Given the description of an element on the screen output the (x, y) to click on. 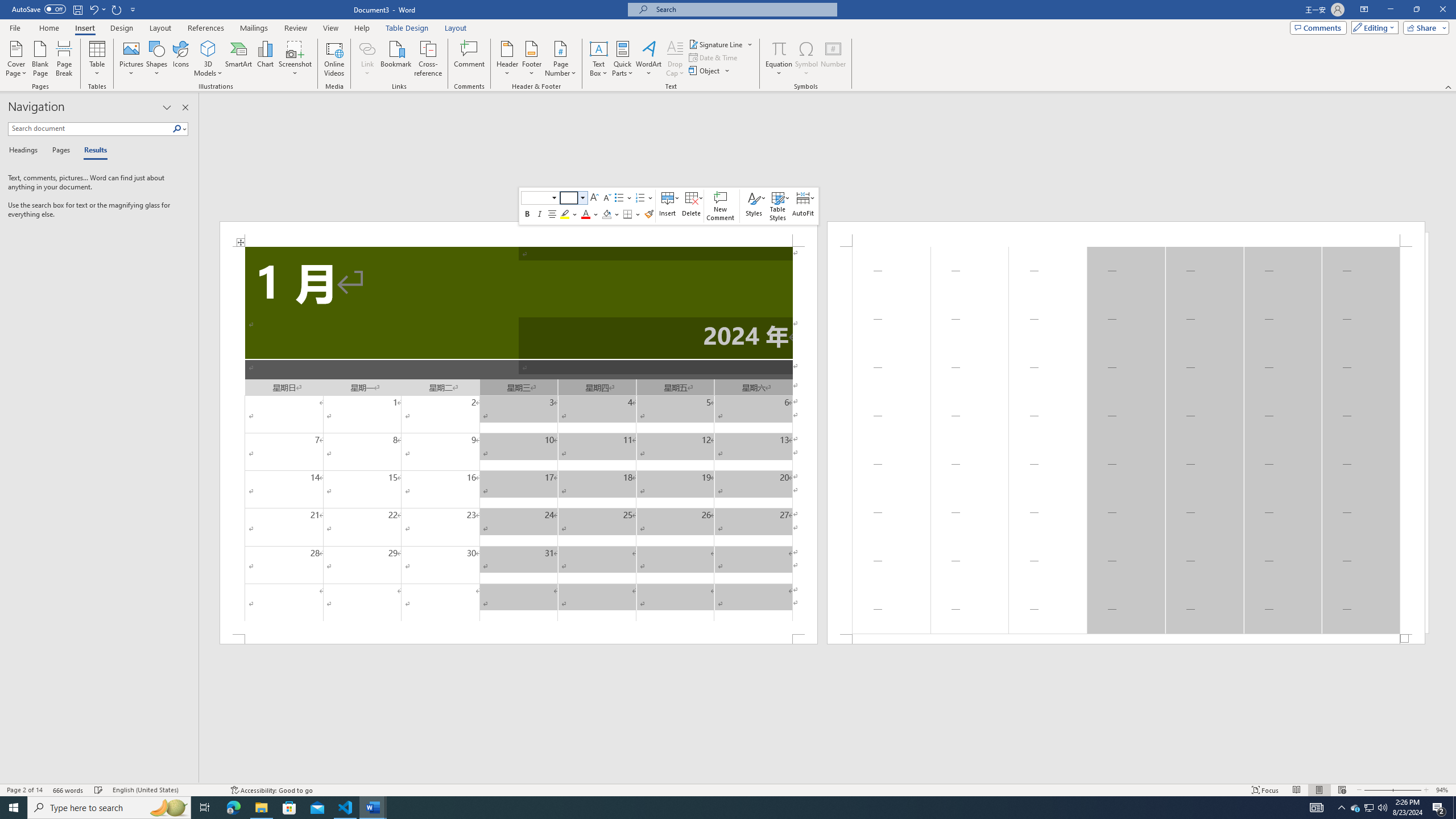
AutoFit (803, 205)
Footer (531, 58)
User Promoted Notification Area (1368, 807)
Class: NetUITextbox (569, 197)
Online Videos... (333, 58)
Table Styles (777, 205)
Page Number (560, 58)
Running applications (717, 807)
Word Count 666 words (68, 790)
